Given the description of an element on the screen output the (x, y) to click on. 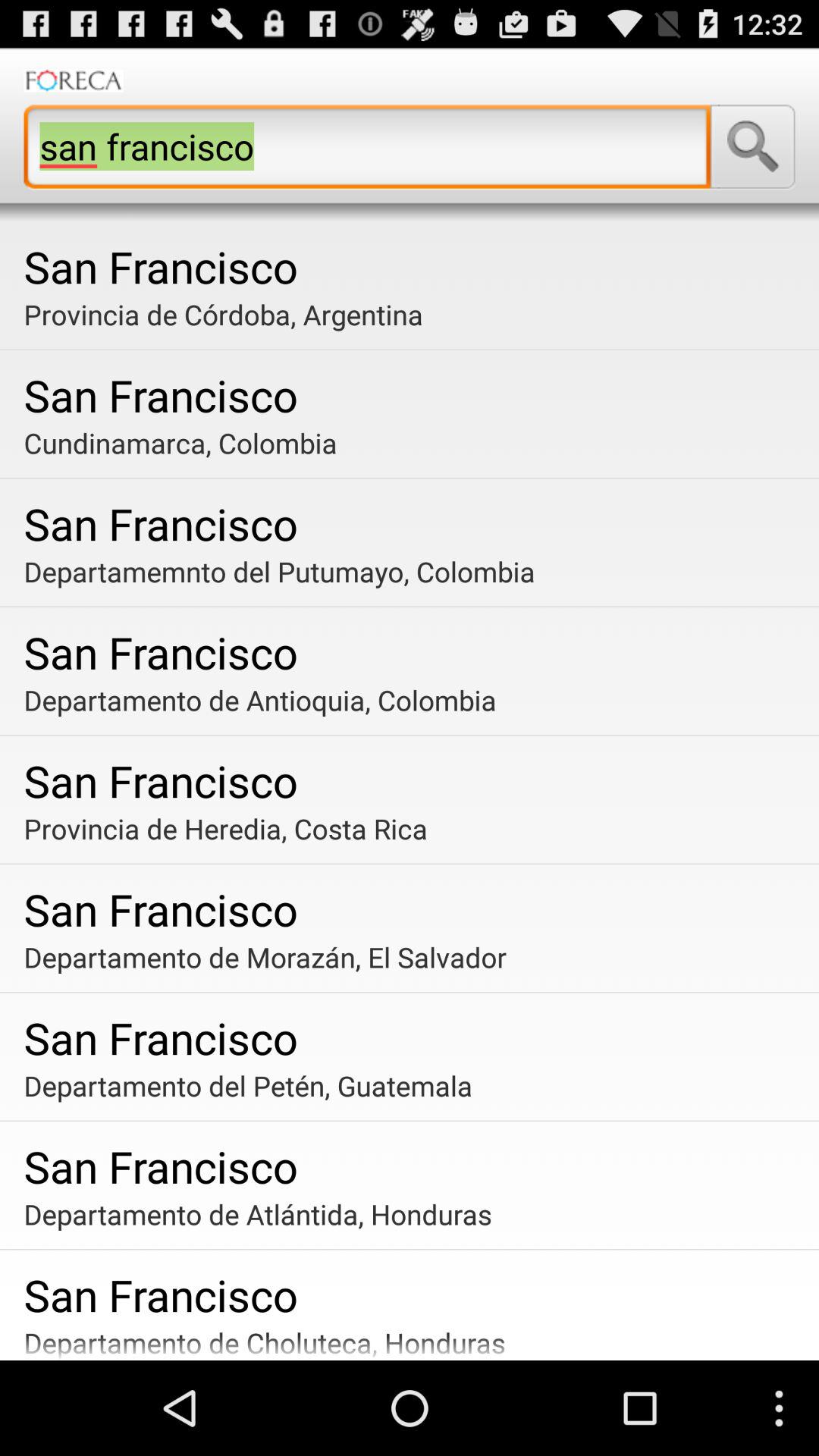
click the cundinamarca, colombia (415, 442)
